Given the description of an element on the screen output the (x, y) to click on. 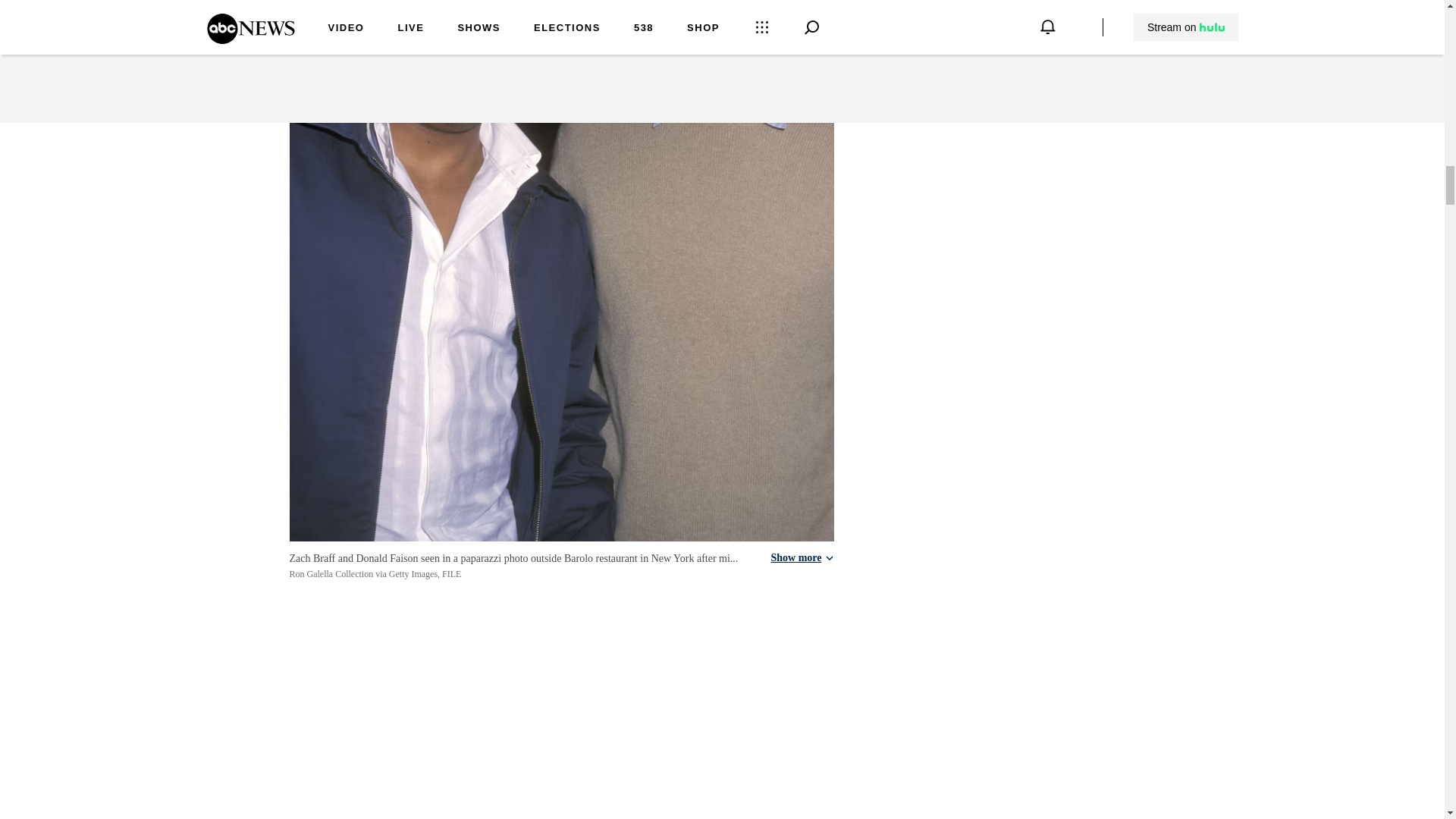
Show more (801, 558)
